Given the description of an element on the screen output the (x, y) to click on. 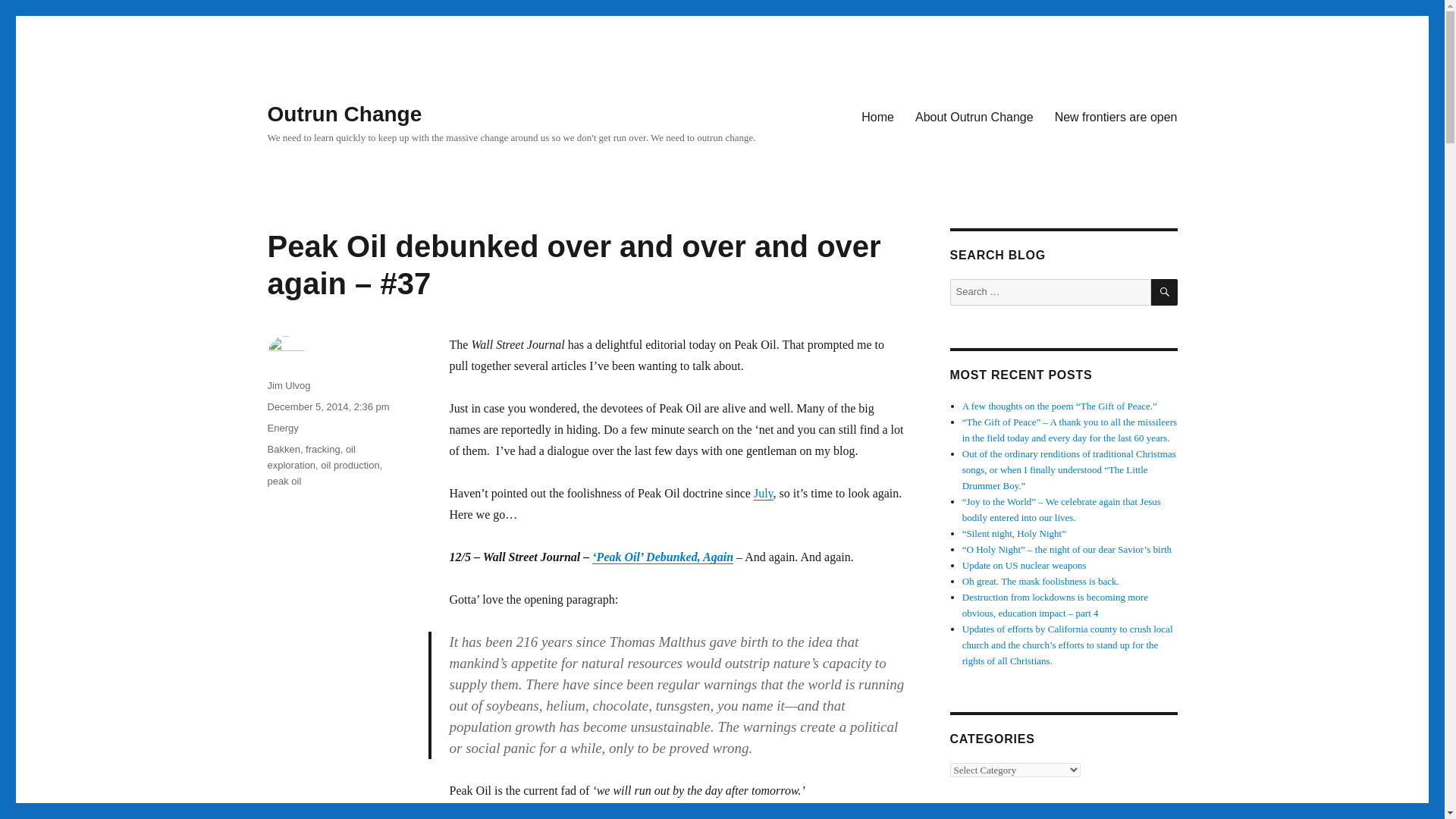
About Outrun Change (973, 116)
oil production (349, 464)
July (763, 492)
New frontiers are open (1115, 116)
Energy (282, 428)
Bakken (282, 449)
peak oil (283, 480)
Jim Ulvog (288, 385)
SEARCH (1164, 292)
fracking (322, 449)
Home (877, 116)
oil exploration (310, 456)
Outrun Change (344, 114)
December 5, 2014, 2:36 pm (327, 406)
